Given the description of an element on the screen output the (x, y) to click on. 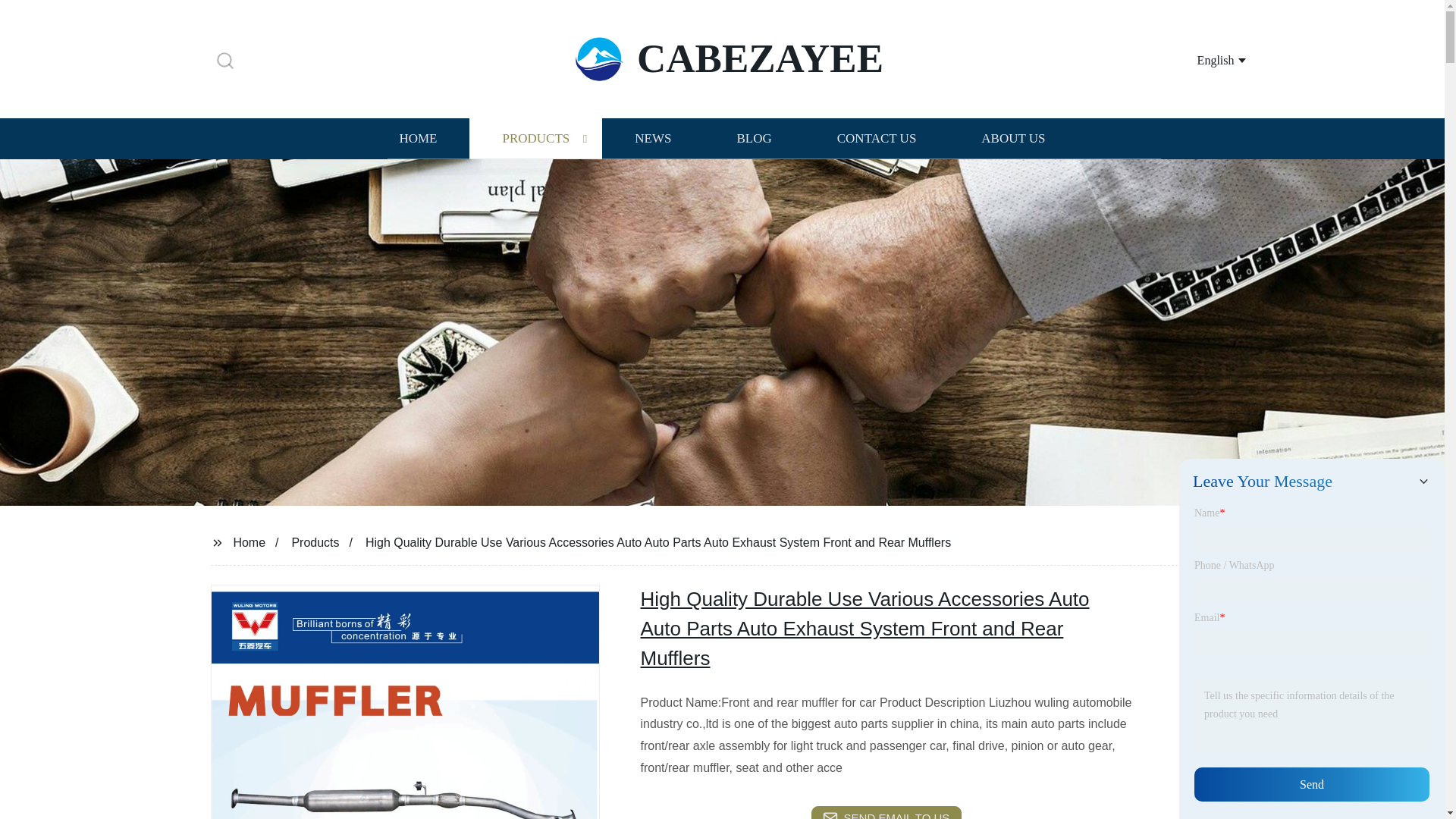
NEWS (652, 137)
PRODUCTS (535, 137)
BLOG (753, 137)
Top (1404, 778)
CONTACT US (877, 137)
ABOUT US (1013, 137)
HOME (417, 137)
English (1203, 59)
SEND EMAIL TO US (885, 812)
Home (248, 541)
Products (315, 541)
English (1203, 59)
